Given the description of an element on the screen output the (x, y) to click on. 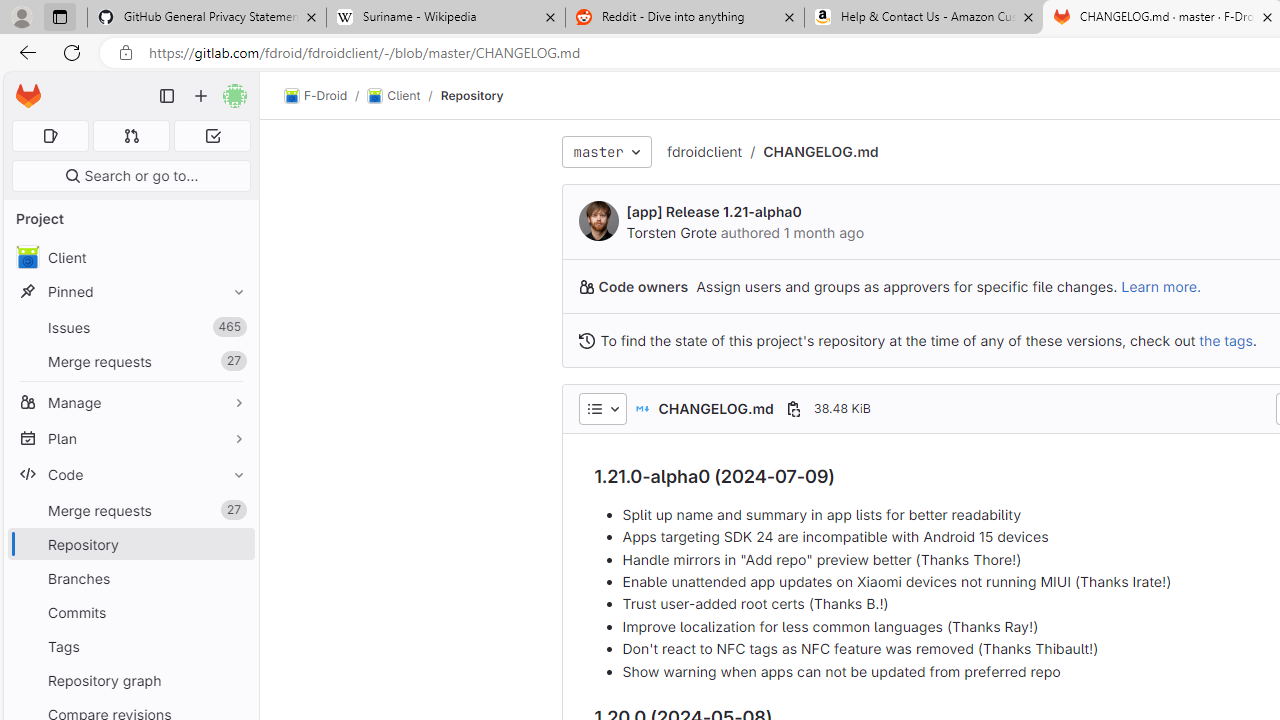
Learn more. (1160, 286)
Merge requests 0 (131, 136)
Unpin Merge requests (234, 510)
Plan (130, 438)
Unpin Issues (234, 327)
Repository graph (130, 679)
Pin Commits (234, 611)
Pin Repository (234, 544)
master (605, 151)
GitHub General Privacy Statement - GitHub Docs (207, 17)
Client (394, 96)
